Given the description of an element on the screen output the (x, y) to click on. 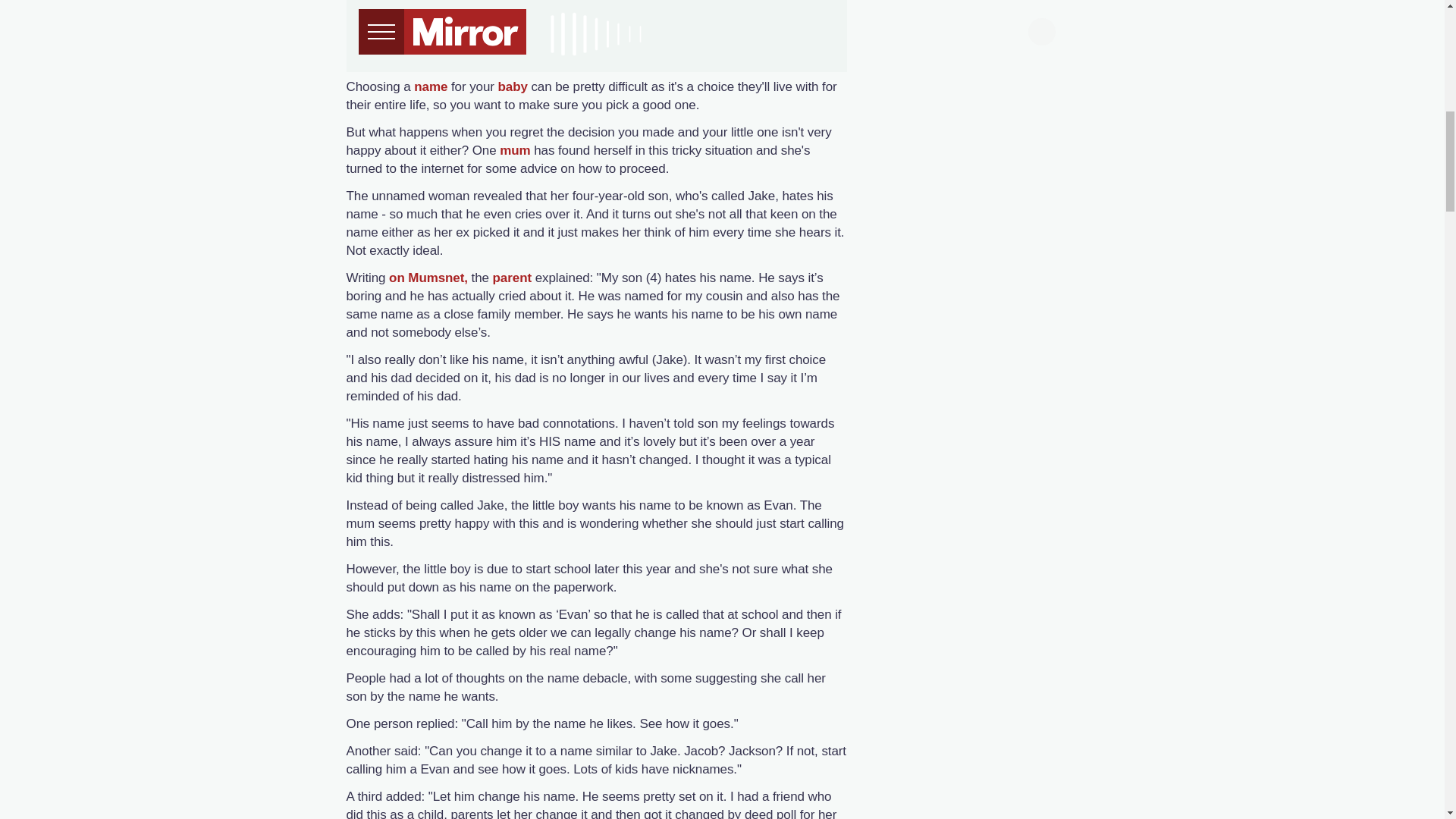
name (429, 86)
baby (512, 86)
on Mumsnet, (427, 278)
mum (514, 150)
parent (512, 278)
